Given the description of an element on the screen output the (x, y) to click on. 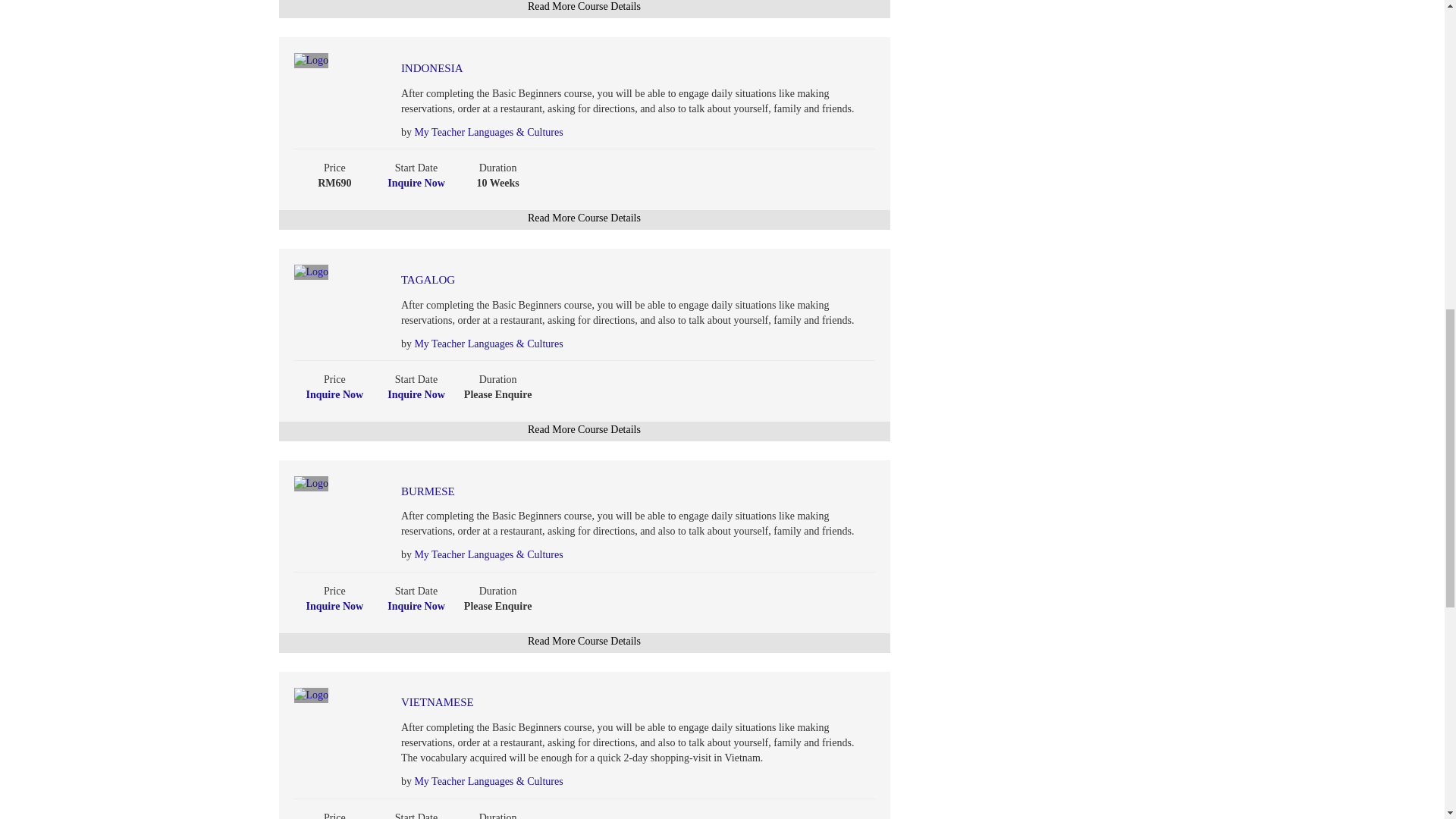
Tagalog (602, 279)
Vietnamese (602, 702)
Burmese (602, 491)
Indonesia (602, 68)
